Given the description of an element on the screen output the (x, y) to click on. 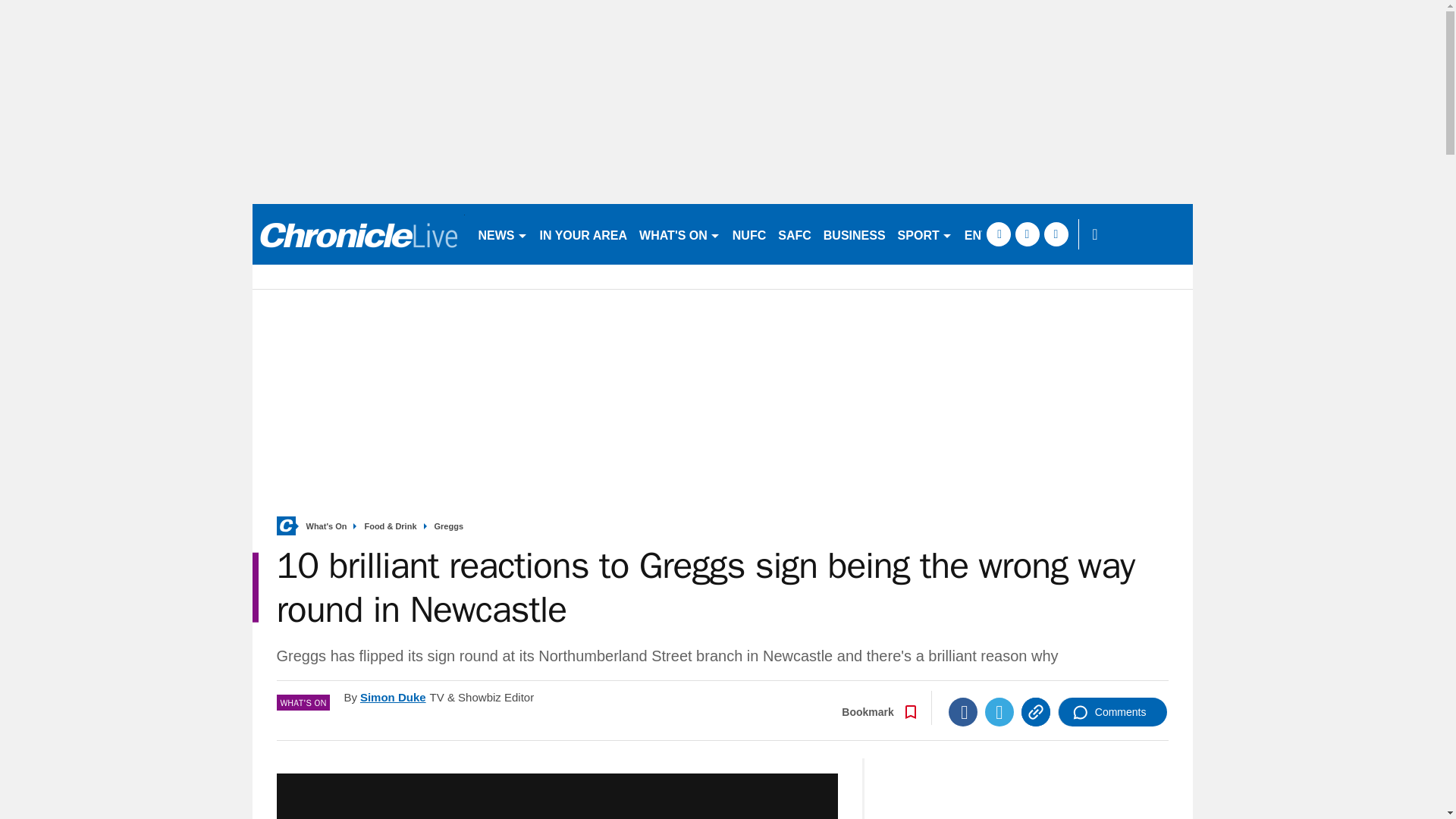
Comments (1112, 711)
nechronicle (357, 233)
SPORT (924, 233)
instagram (1055, 233)
Facebook (962, 711)
BUSINESS (853, 233)
IN YOUR AREA (583, 233)
Twitter (999, 711)
facebook (997, 233)
twitter (1026, 233)
